Given the description of an element on the screen output the (x, y) to click on. 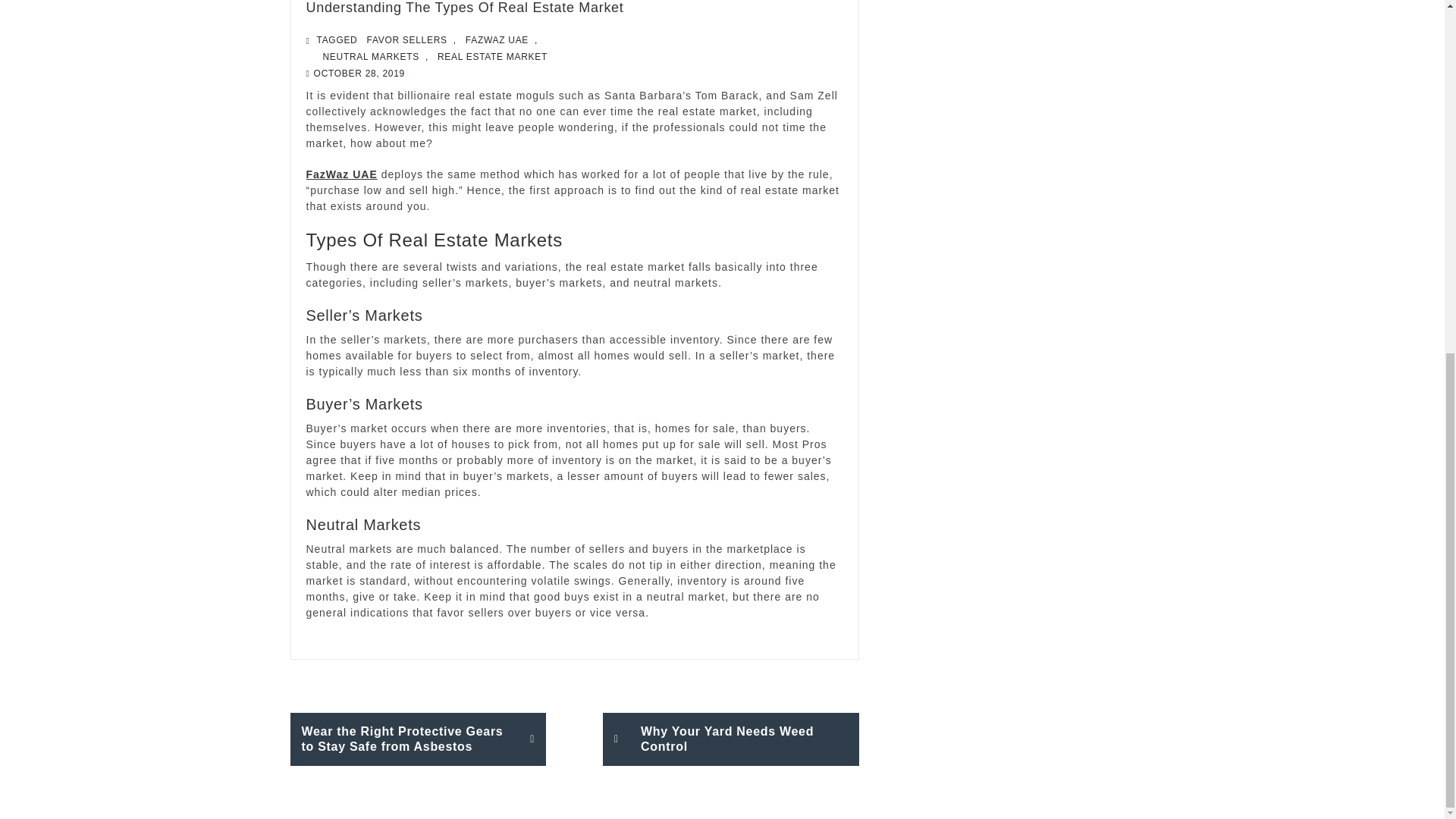
Why Your Yard Needs Weed Control (730, 739)
FAVOR SELLERS (406, 39)
NEUTRAL MARKETS (371, 56)
REAL ESTATE MARKET (491, 56)
FazWaz UAE (341, 174)
Wear the Right Protective Gears to Stay Safe from Asbestos (417, 739)
OCTOBER 28, 2019 (359, 72)
FAZWAZ UAE (497, 39)
